Given the description of an element on the screen output the (x, y) to click on. 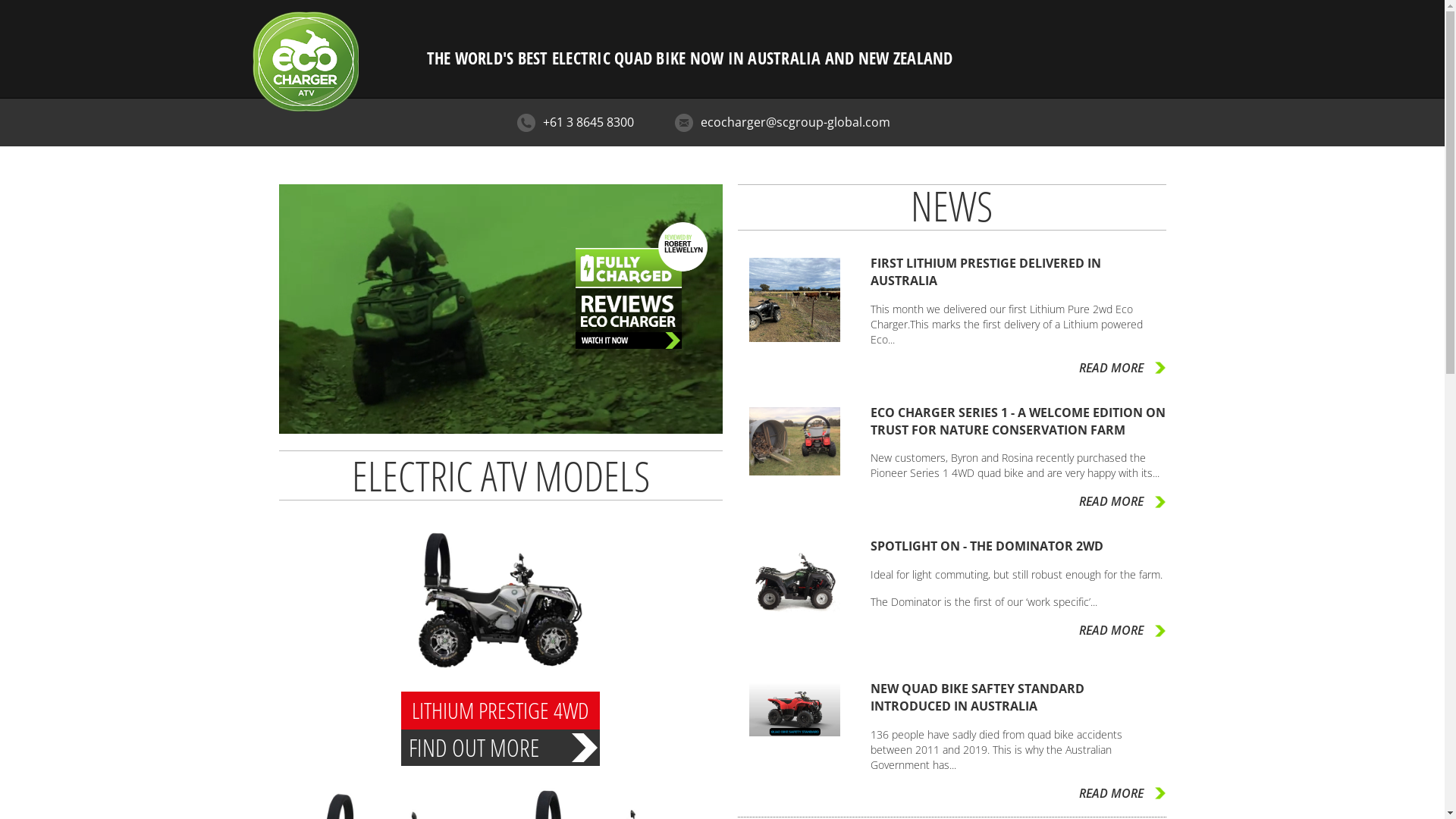
Ecocharger Element type: text (304, 33)
READ MORE Element type: text (1121, 367)
ecocharger@scgroup-global.com Element type: text (795, 121)
READ MORE Element type: text (1121, 630)
READ MORE Element type: text (1121, 501)
FIND OUT MORE Element type: text (500, 751)
+61 3 8645 8300 Element type: text (587, 121)
READ MORE Element type: text (1121, 793)
